Given the description of an element on the screen output the (x, y) to click on. 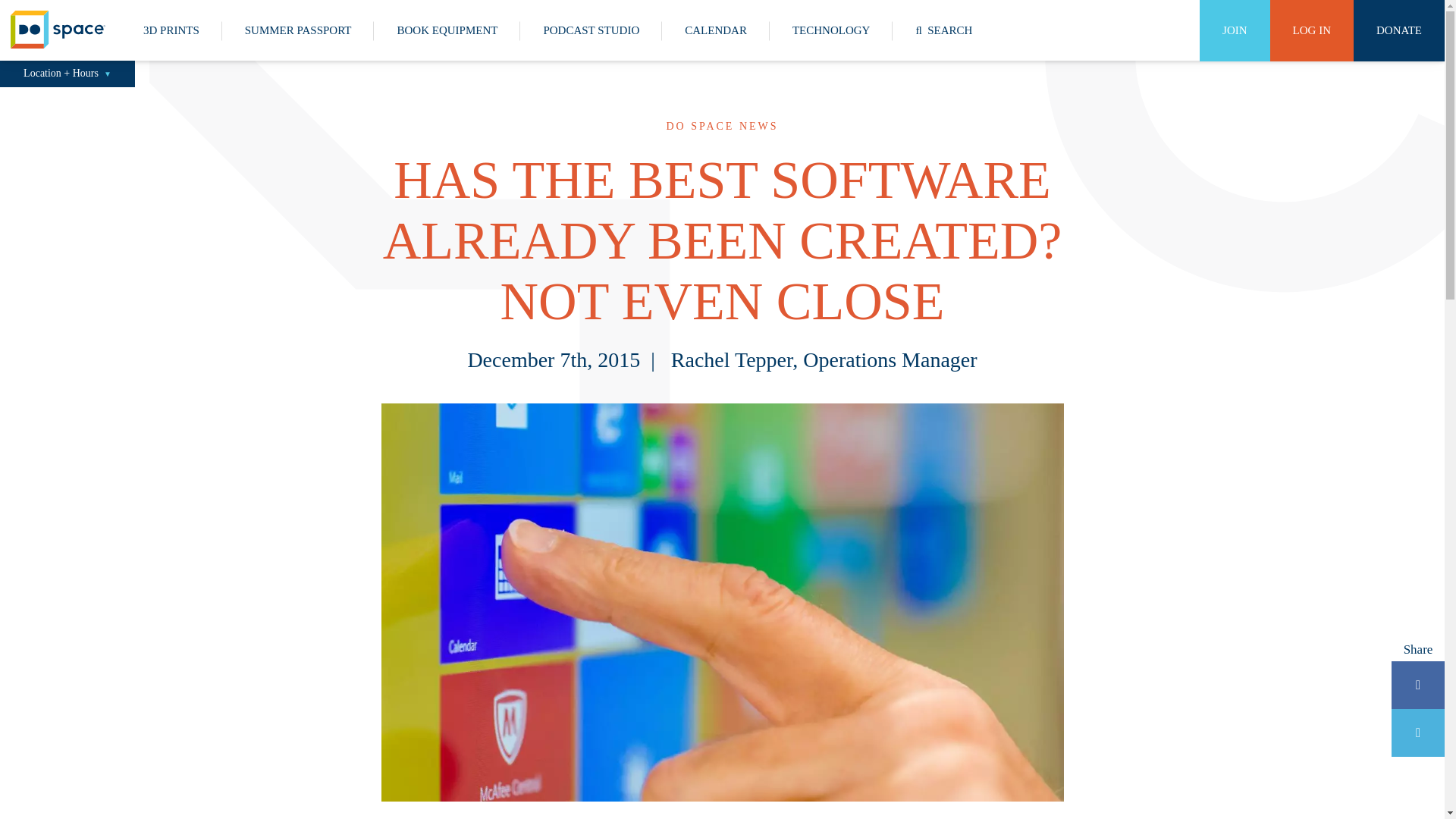
BOOK EQUIPMENT (446, 30)
DO SPACE NEWS (721, 125)
CALENDAR (716, 30)
PODCAST STUDIO (590, 30)
3D PRINTS (171, 30)
JOIN (1234, 30)
SUMMER PASSPORT (298, 30)
LOG IN (1311, 30)
TECHNOLOGY (831, 30)
 SEARCH (943, 30)
